Given the description of an element on the screen output the (x, y) to click on. 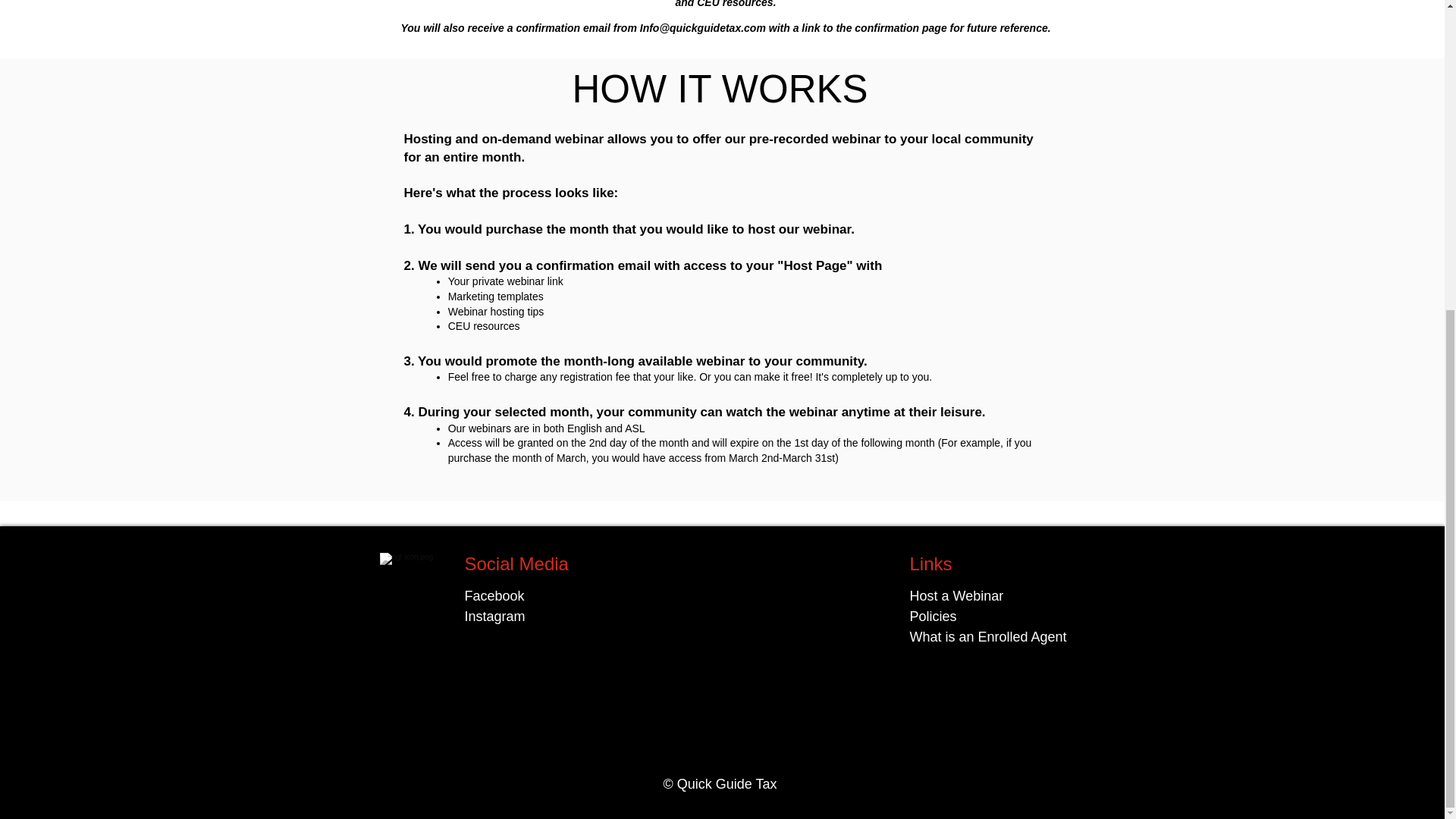
Facebook (494, 595)
What is an Enrolled Agent (988, 636)
Host a Webinar (957, 595)
Policies (933, 616)
Instagram (494, 616)
